Given the description of an element on the screen output the (x, y) to click on. 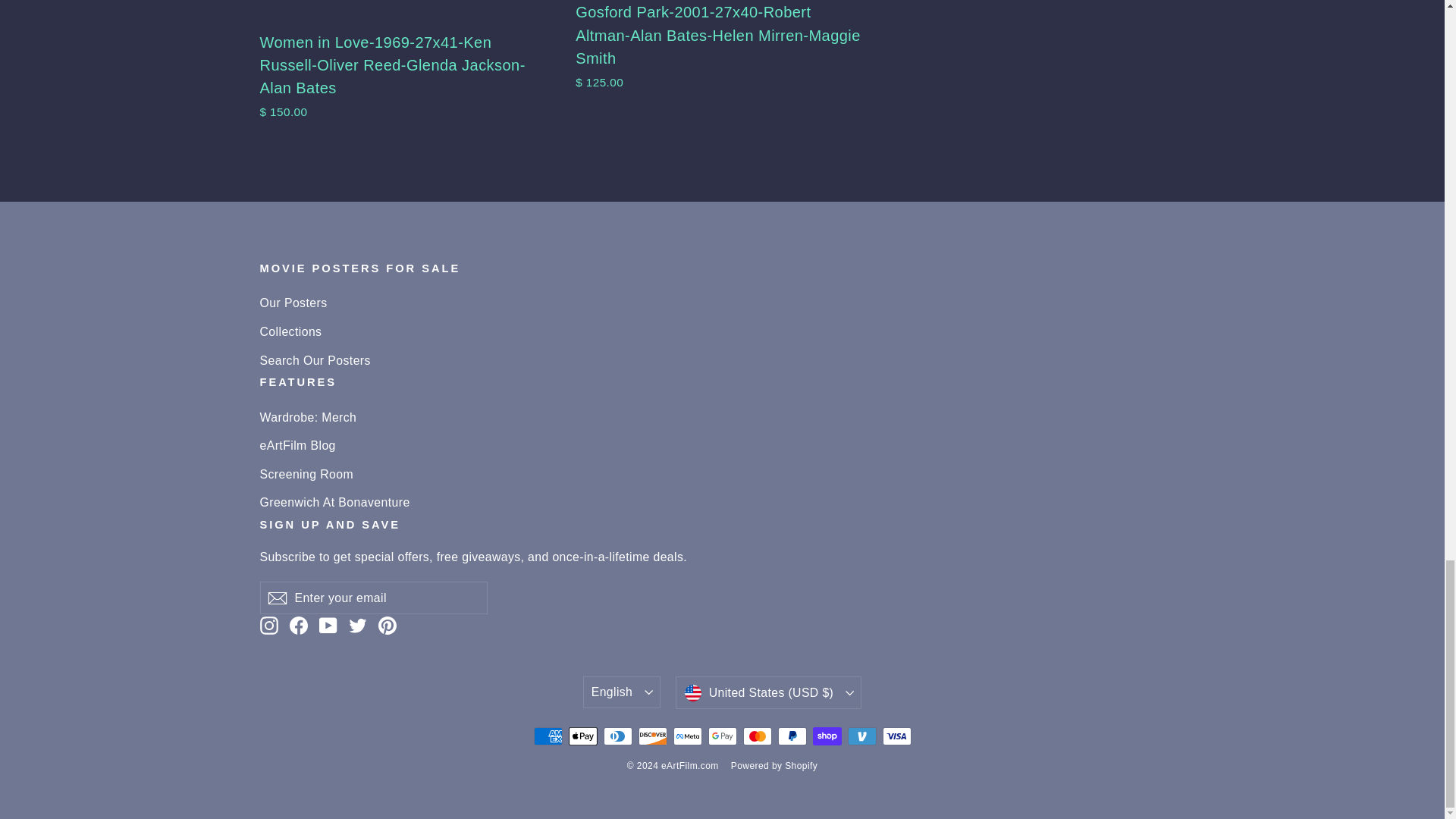
eArtFilm.com on Twitter (357, 624)
icon-email (276, 597)
twitter (357, 625)
eArtFilm.com on Facebook (298, 624)
American Express (548, 736)
instagram (268, 625)
eArtFilm.com on YouTube (327, 624)
